Given the description of an element on the screen output the (x, y) to click on. 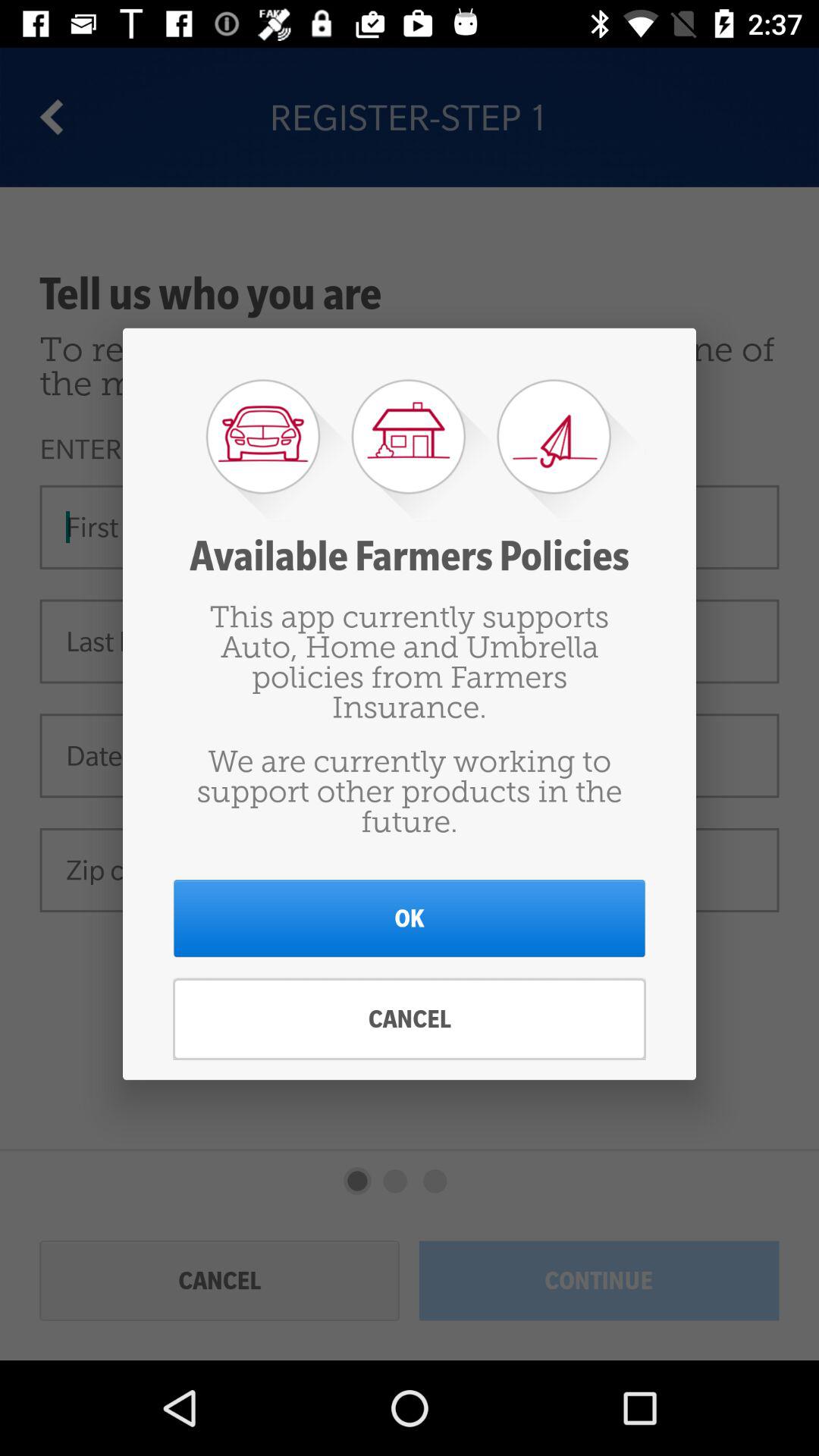
tap icon below the we are currently item (409, 918)
